Given the description of an element on the screen output the (x, y) to click on. 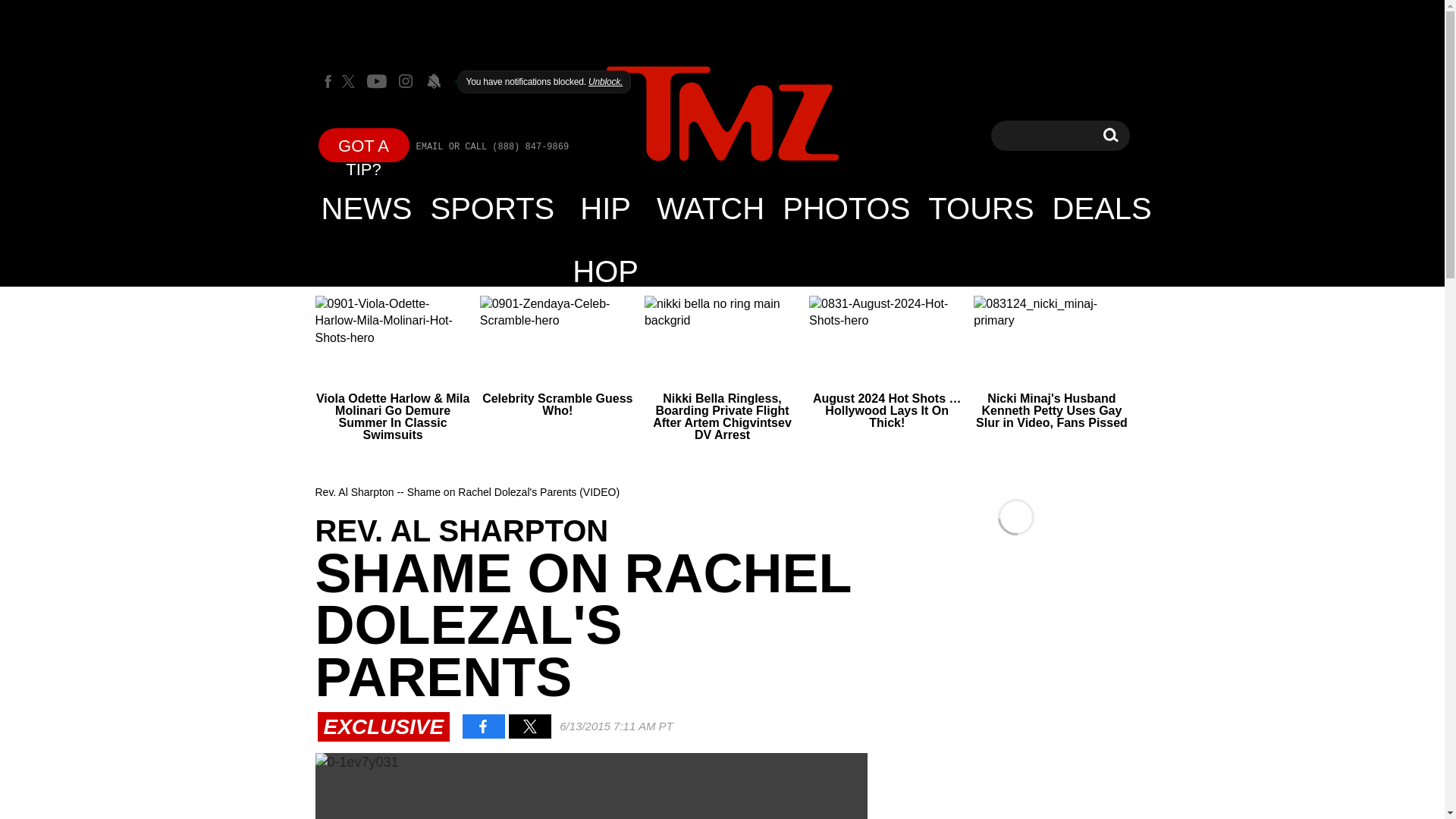
PHOTOS (845, 207)
WATCH (710, 207)
HIP HOP (605, 207)
GOT A TIP? (363, 144)
TMZ (722, 115)
NEWS (367, 207)
TOURS (980, 207)
TMZ (722, 113)
